Given the description of an element on the screen output the (x, y) to click on. 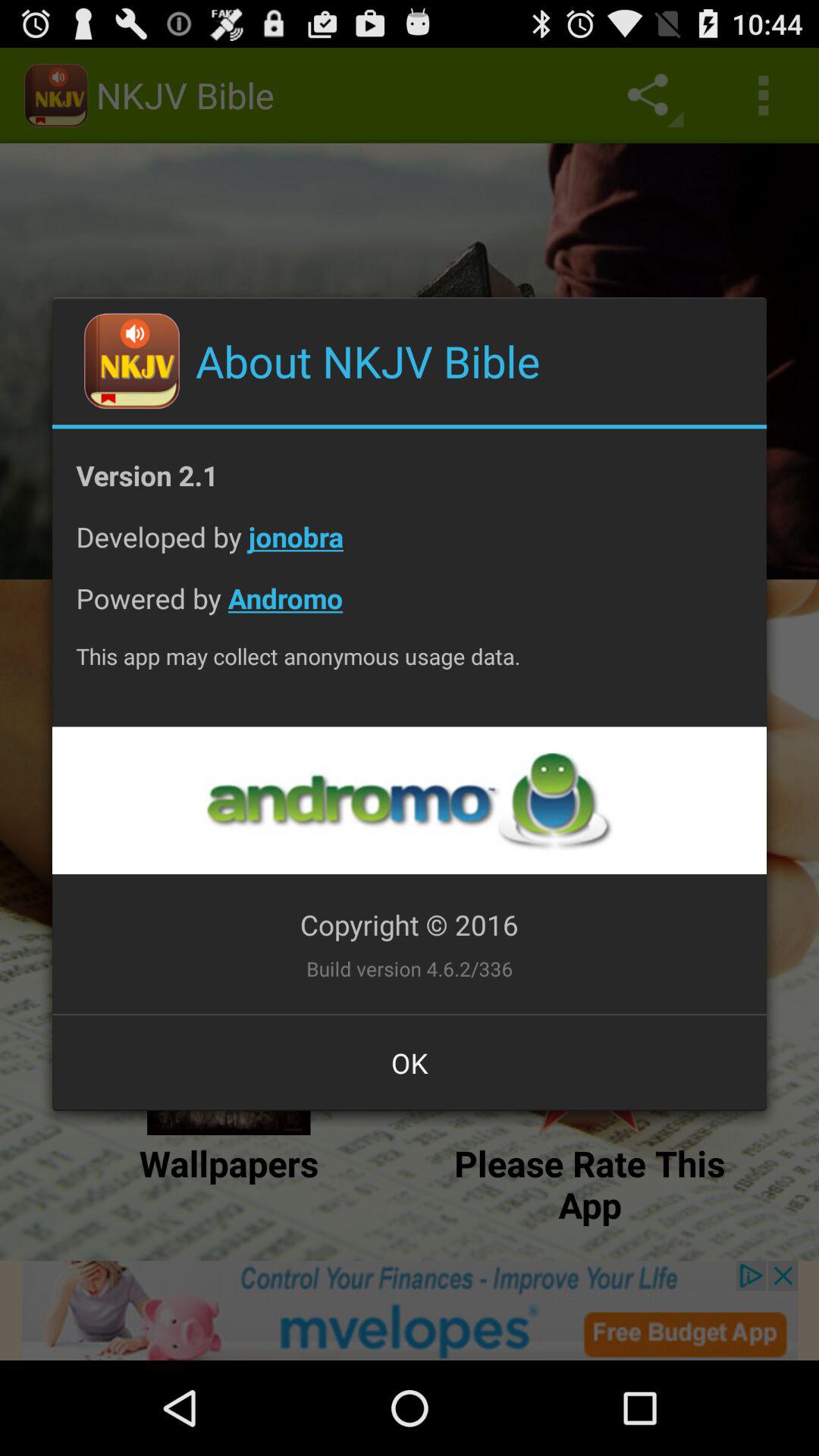
developers logo (408, 800)
